Given the description of an element on the screen output the (x, y) to click on. 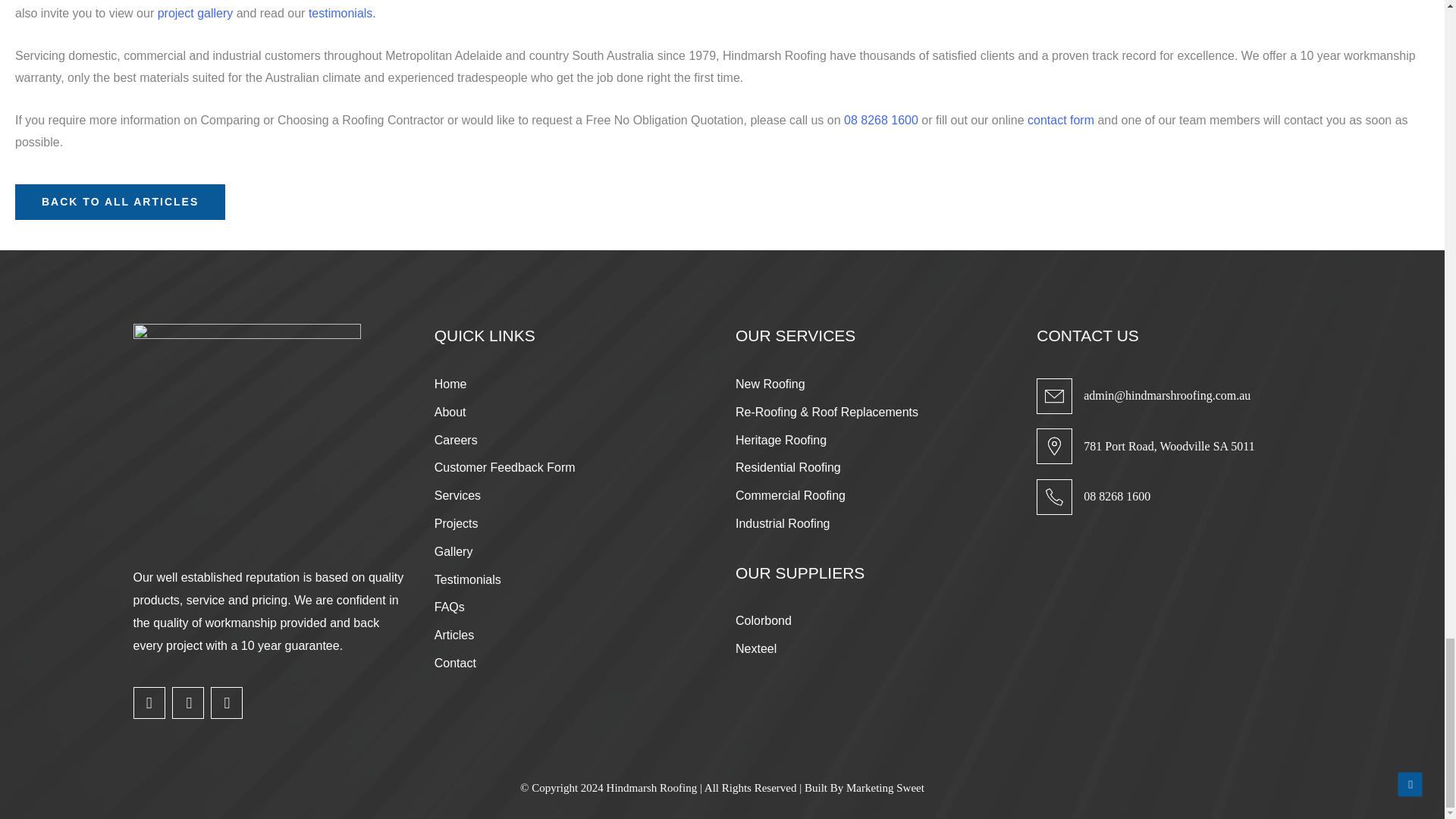
Contact Us (1060, 123)
Home (119, 202)
